Given the description of an element on the screen output the (x, y) to click on. 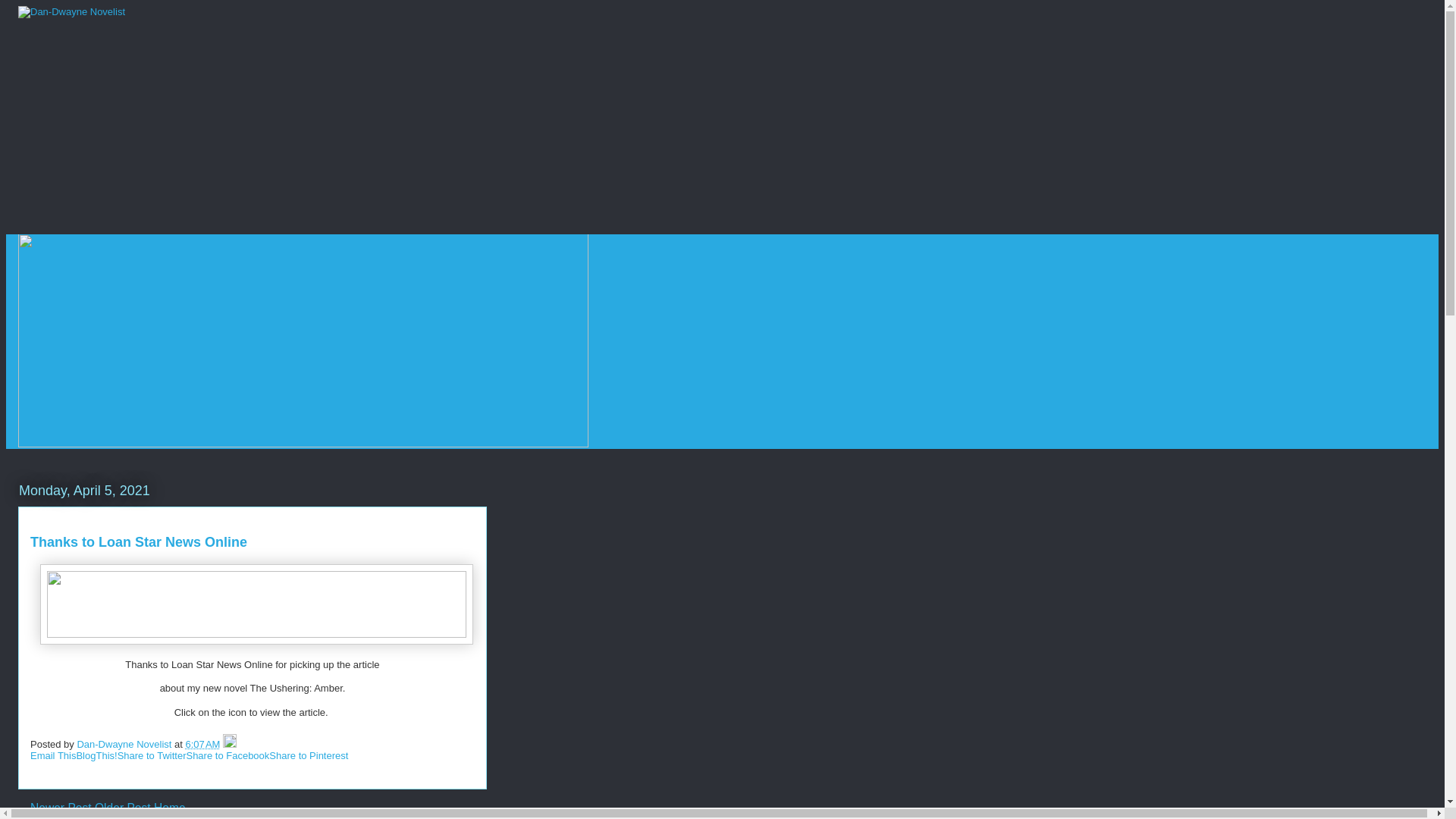
Share to Facebook (227, 755)
Email This (52, 755)
Share to Pinterest (308, 755)
Edit Post (228, 744)
Share to Twitter (151, 755)
BlogThis! (95, 755)
Email This (52, 755)
BlogThis! (95, 755)
Share to Twitter (151, 755)
Share to Facebook (227, 755)
Older Post (122, 807)
Newer Post (60, 807)
permanent link (203, 744)
Dan-Dwayne Novelist (125, 744)
